Given the description of an element on the screen output the (x, y) to click on. 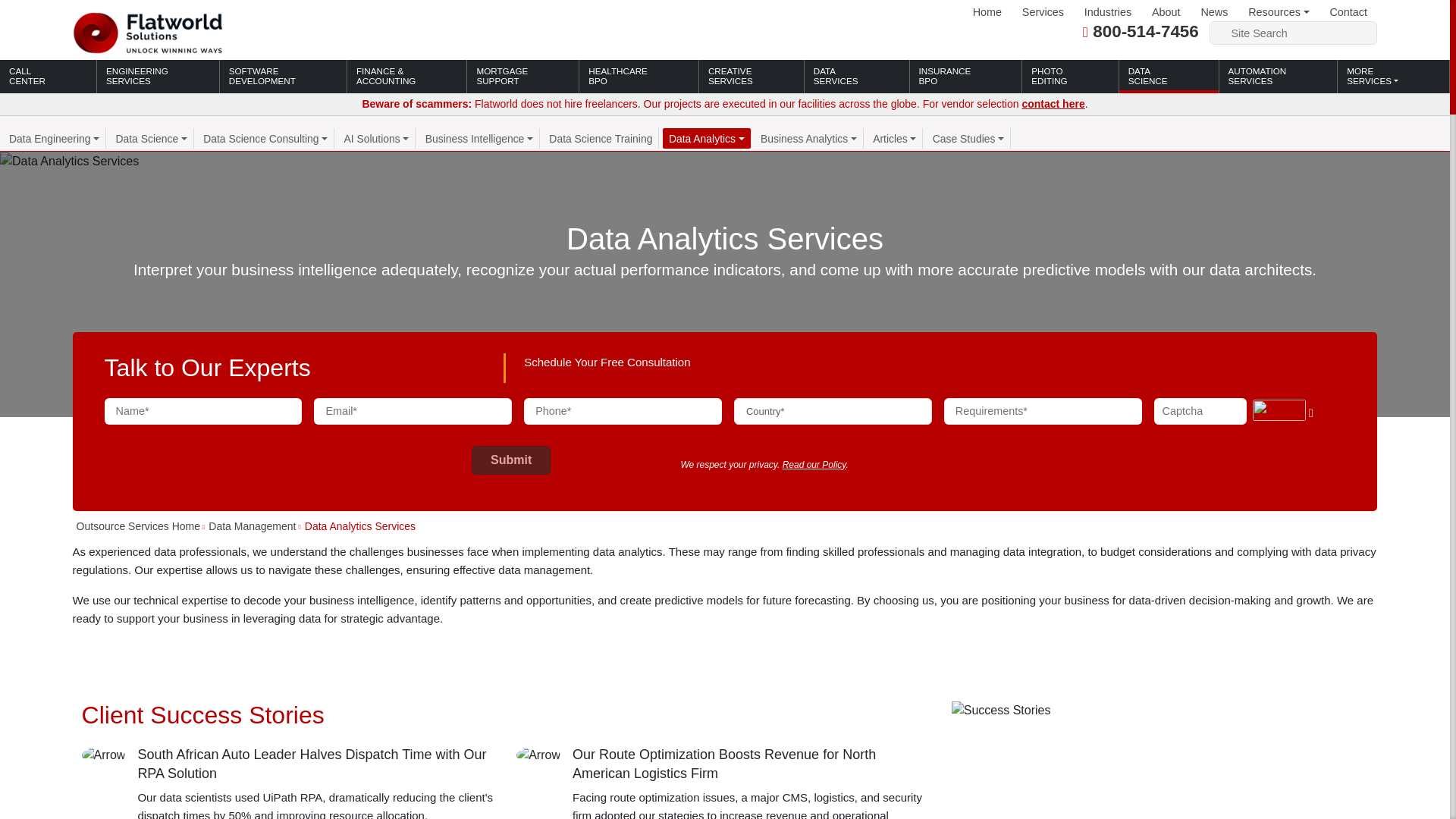
Services (1042, 11)
Submit (510, 460)
800-514-7456 (1145, 31)
Home (987, 11)
Data Analytics Services  (69, 161)
